Given the description of an element on the screen output the (x, y) to click on. 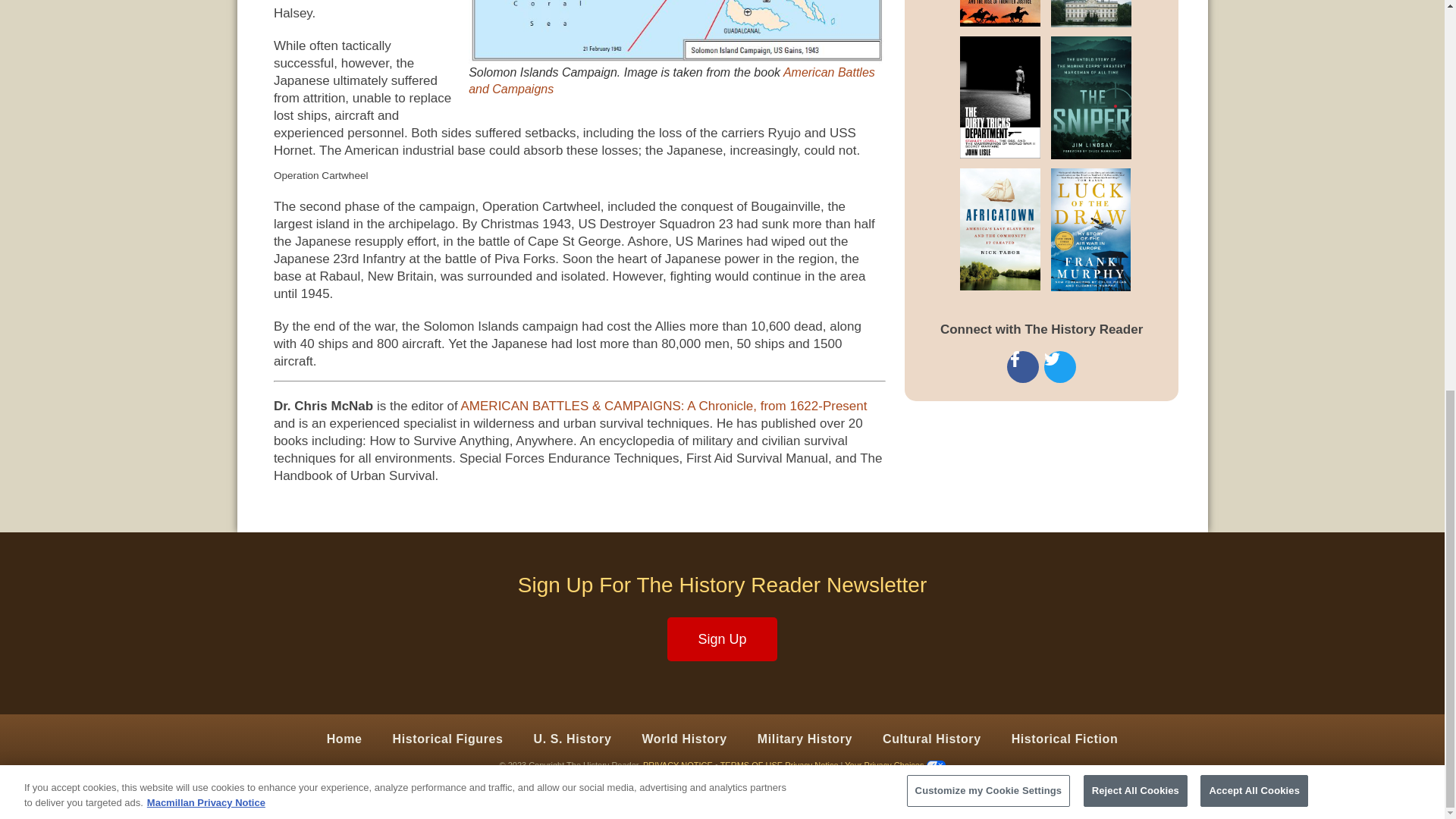
hitler susan ronald (1101, 13)
tom clavin to hell (982, 18)
American Battles and Campaigns (671, 80)
tom clavin hell (981, 13)
